Given the description of an element on the screen output the (x, y) to click on. 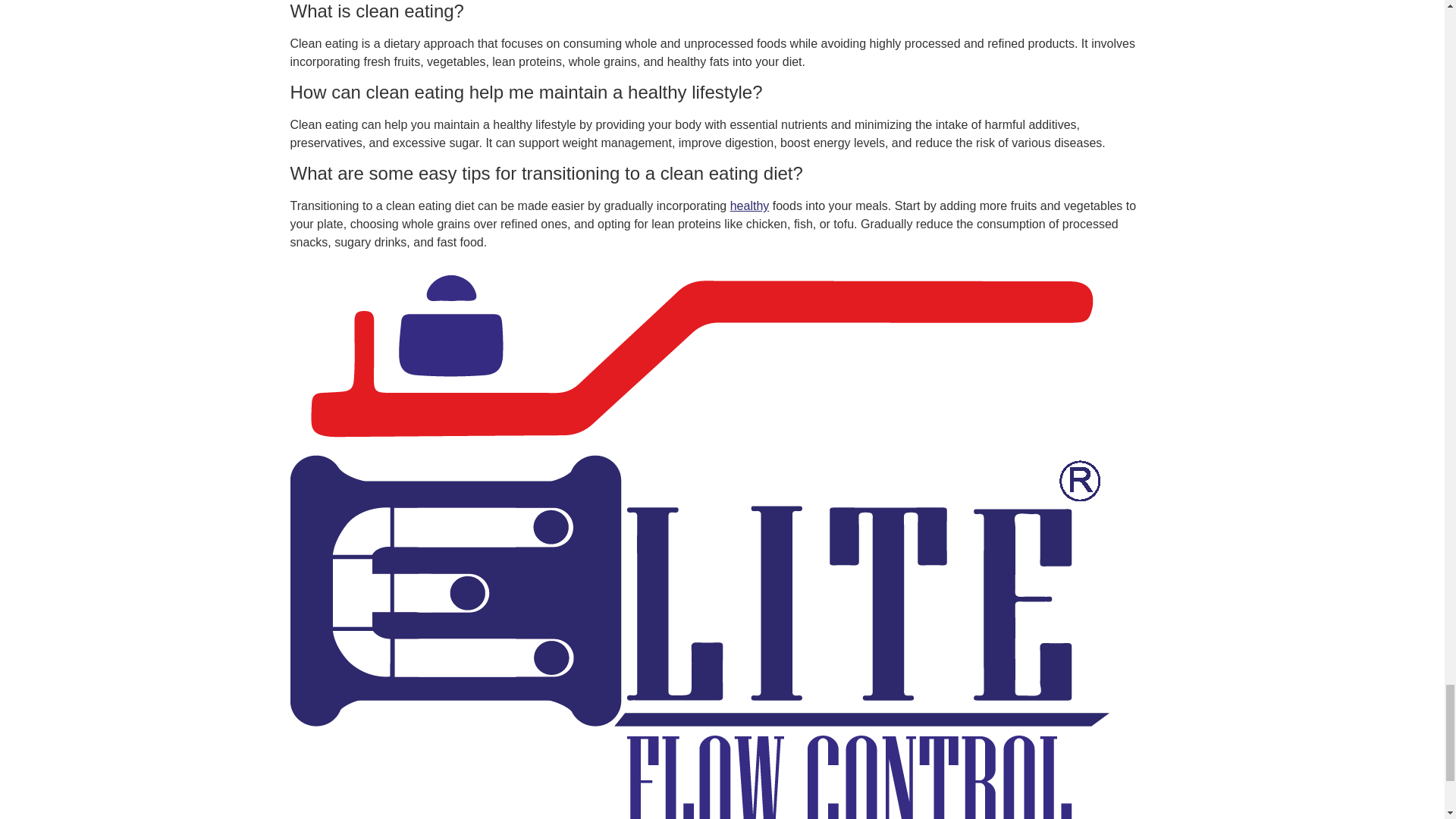
healthy (750, 205)
